Given the description of an element on the screen output the (x, y) to click on. 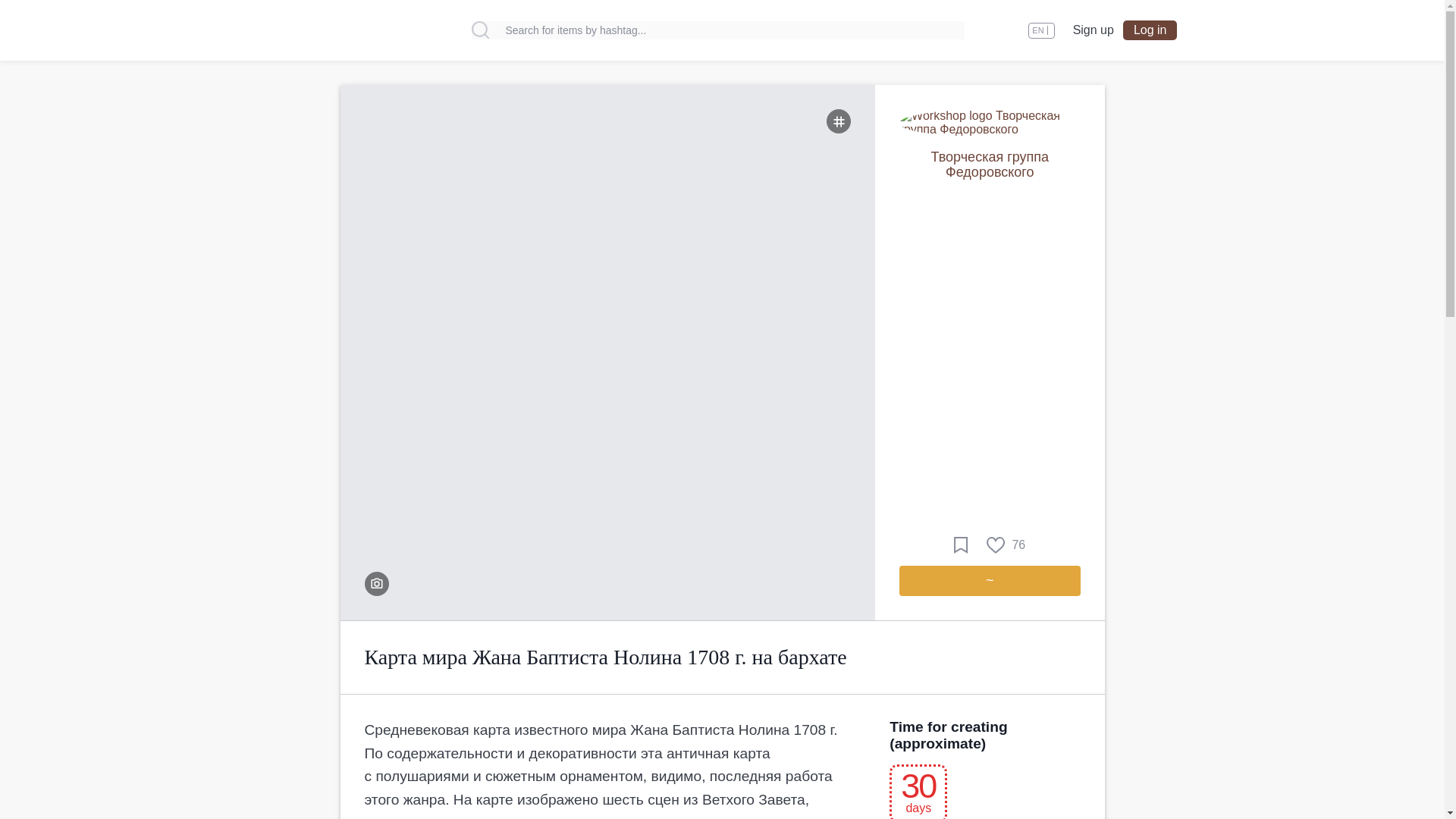
HANDMADE Logo (336, 29)
76 (1006, 545)
Like (1006, 545)
Show photographer information (376, 583)
Select language and currency (1040, 30)
On order. Proceed to creating an order (989, 580)
